Given the description of an element on the screen output the (x, y) to click on. 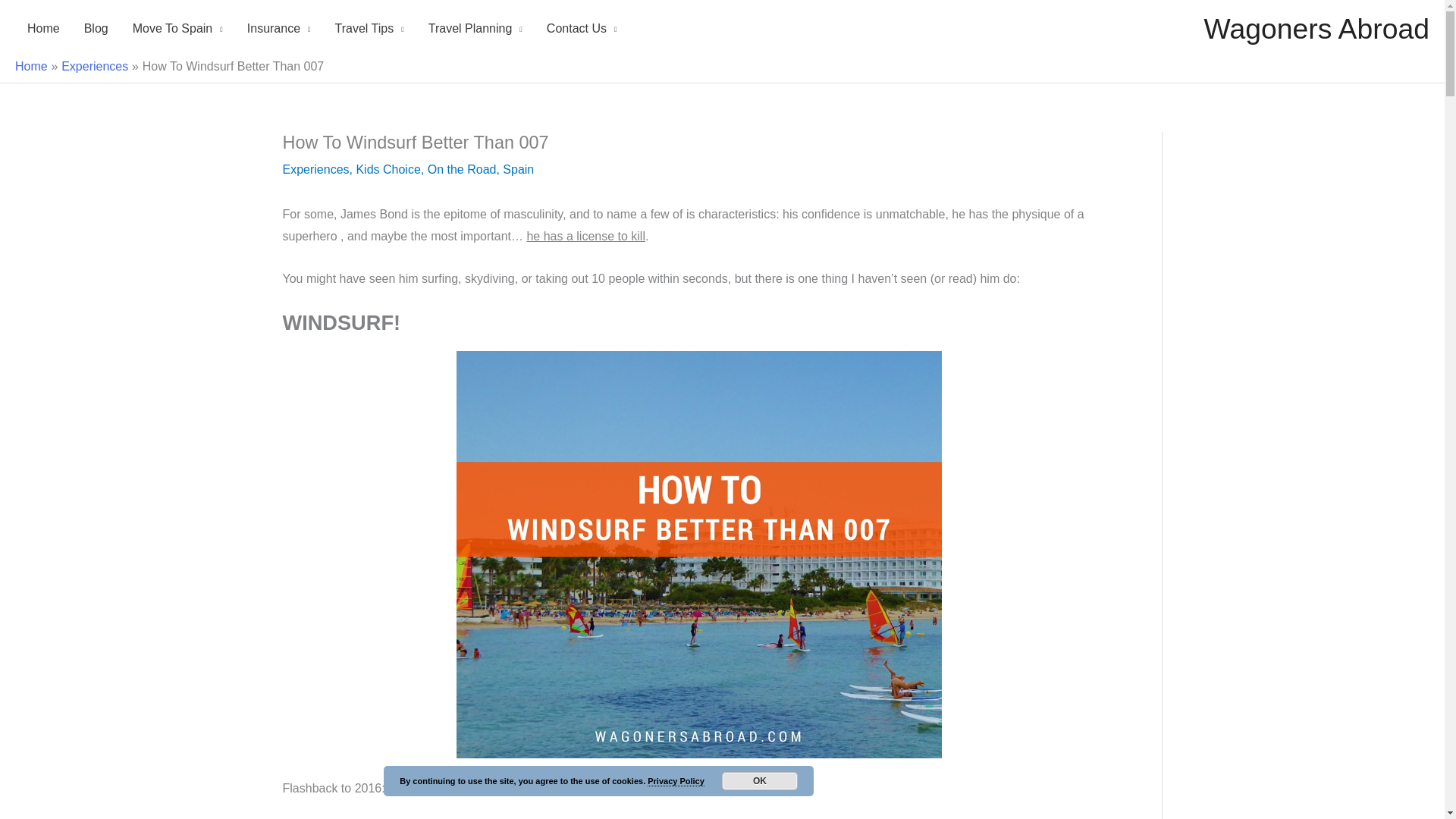
Insurance (278, 29)
Wagoners Abroad (1316, 29)
Move To Spain (177, 29)
Home (42, 29)
Travel Tips (369, 29)
